Given the description of an element on the screen output the (x, y) to click on. 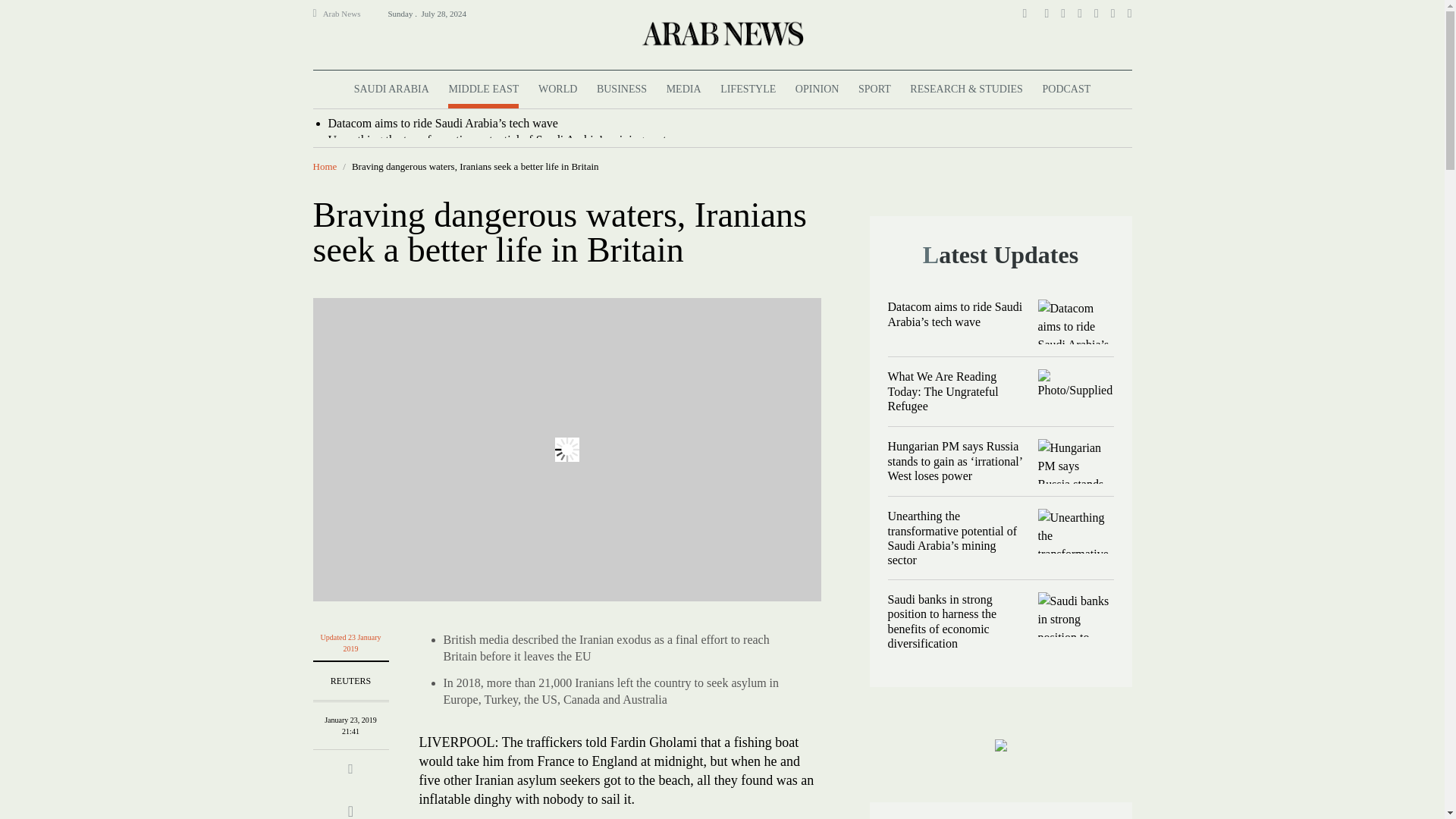
Arabnews (721, 33)
Arab News (348, 13)
